Given the description of an element on the screen output the (x, y) to click on. 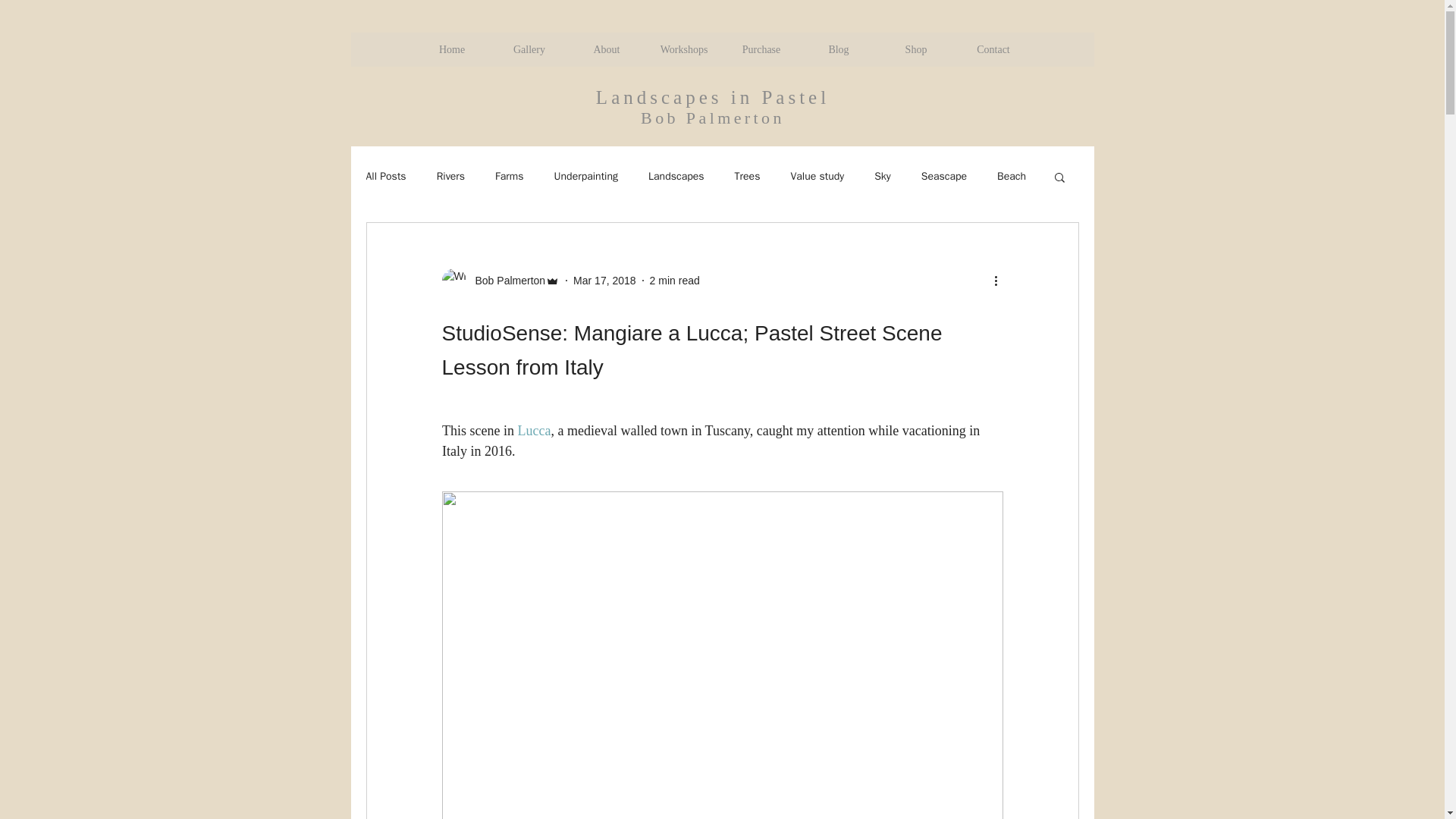
Workshops (683, 49)
Gallery (528, 49)
Mar 17, 2018 (604, 280)
Value study (817, 176)
About (606, 49)
Trees (747, 176)
All Posts (385, 176)
Home (450, 49)
Beach (1011, 176)
Contact (991, 49)
Purchase (760, 49)
Landscapes (675, 176)
2 min read (674, 280)
Farms (508, 176)
Rivers (450, 176)
